Given the description of an element on the screen output the (x, y) to click on. 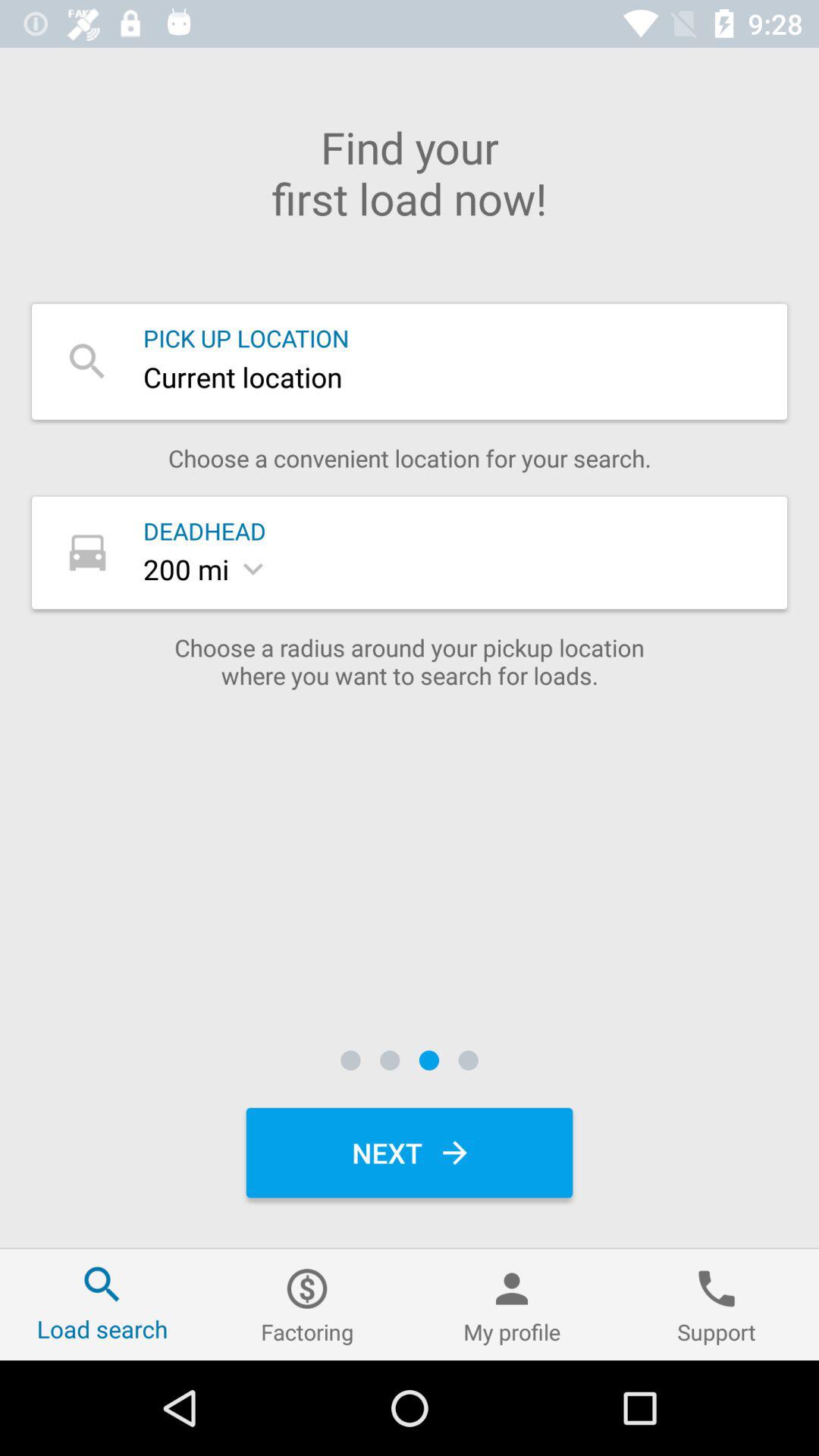
swipe until the my profile item (511, 1304)
